Given the description of an element on the screen output the (x, y) to click on. 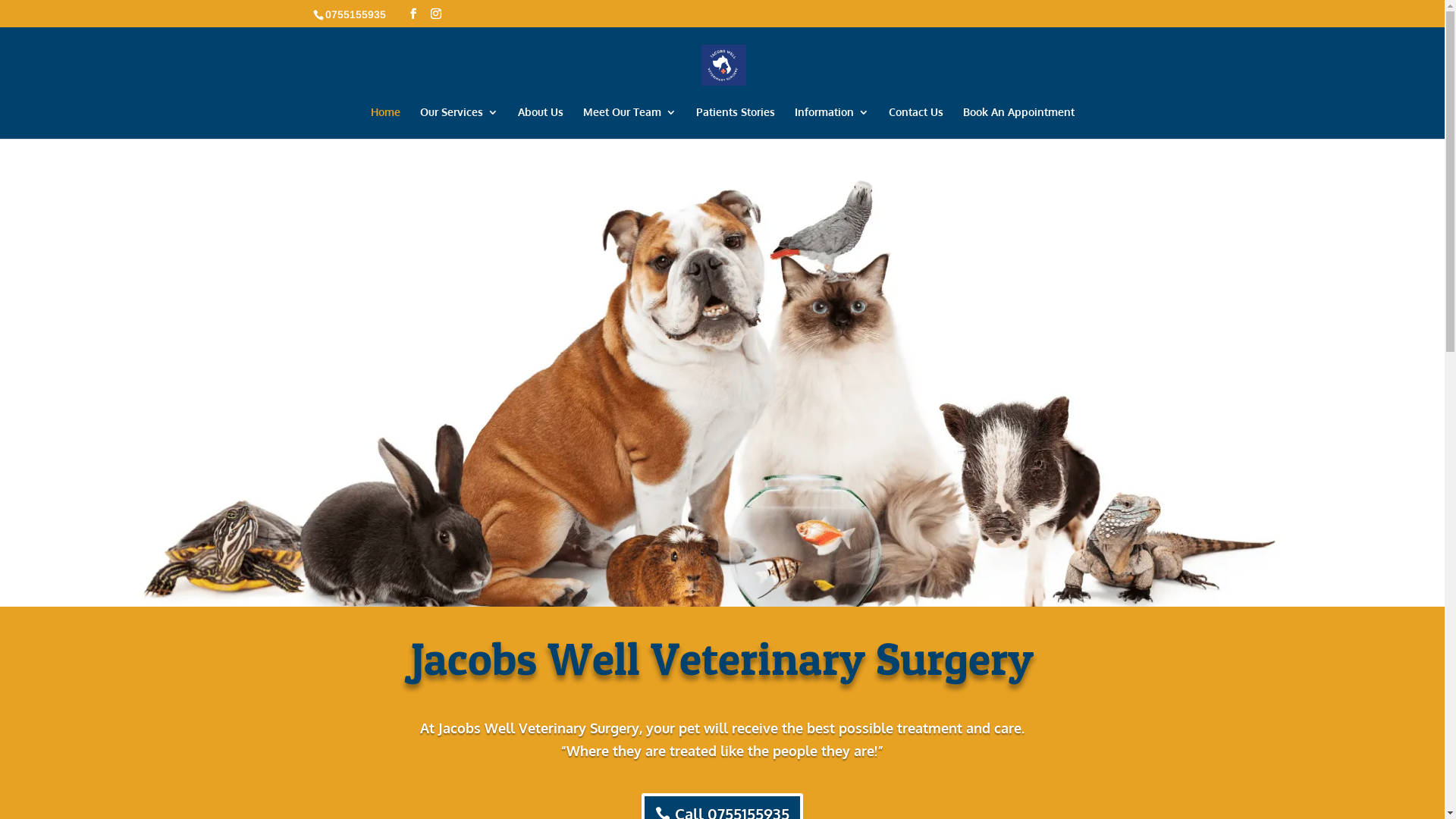
Contact Us Element type: text (915, 122)
Book An Appointment Element type: text (1018, 122)
Patients Stories Element type: text (735, 122)
About Us Element type: text (539, 122)
Our Services Element type: text (459, 122)
Information Element type: text (831, 122)
Home Element type: text (384, 122)
Meet Our Team Element type: text (628, 122)
